Given the description of an element on the screen output the (x, y) to click on. 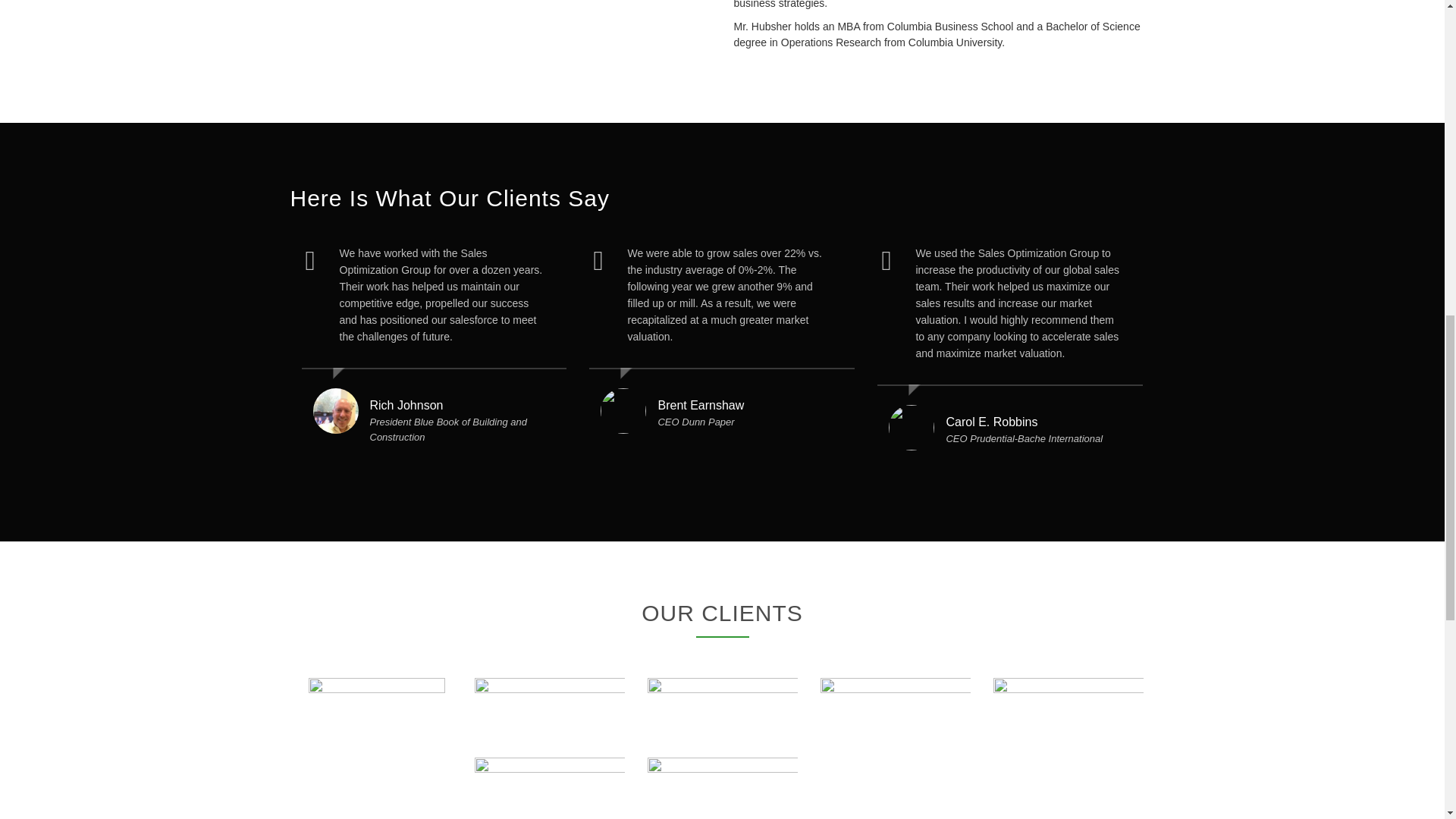
ADT2 (376, 712)
GE2 (549, 708)
d-WebMD (1067, 708)
d-Oracle (722, 787)
d-prudential (549, 787)
d-Google (896, 708)
d-Siemens (722, 708)
